Given the description of an element on the screen output the (x, y) to click on. 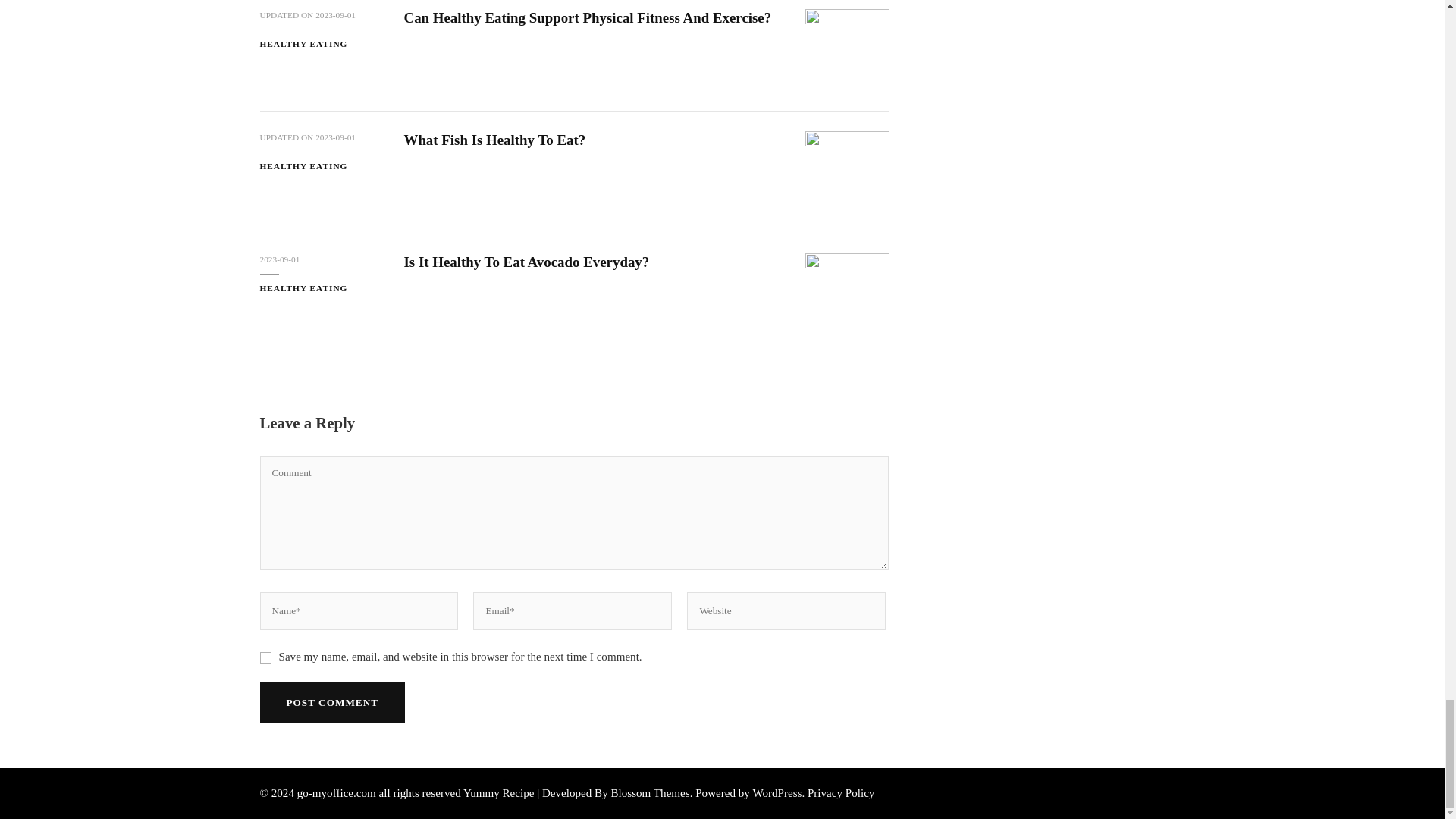
HEALTHY EATING (303, 165)
Post Comment (331, 702)
2023-09-01 (335, 15)
Can Healthy Eating Support Physical Fitness And Exercise? (587, 17)
What Fish Is Healthy To Eat? (494, 139)
HEALTHY EATING (303, 42)
2023-09-01 (335, 137)
